Given the description of an element on the screen output the (x, y) to click on. 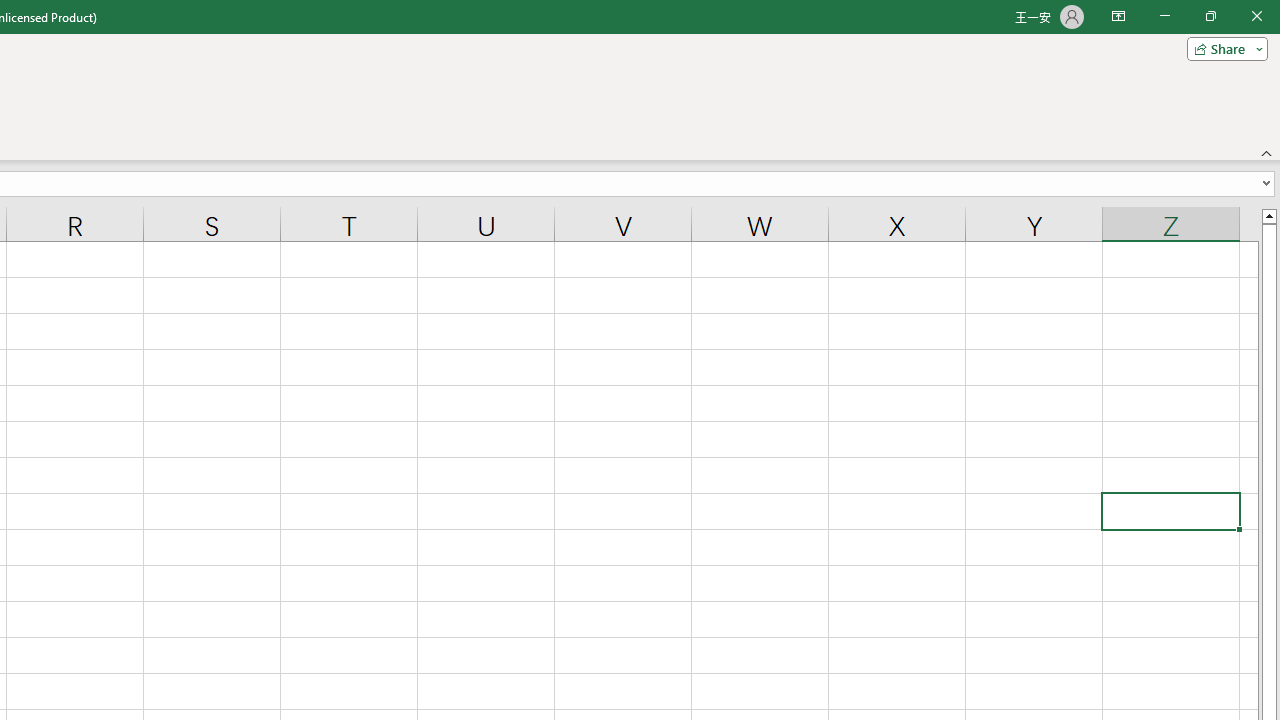
Share (1223, 48)
Line up (1268, 215)
Close (1256, 16)
Minimize (1164, 16)
Collapse the Ribbon (1267, 152)
Restore Down (1210, 16)
Ribbon Display Options (1118, 16)
